Given the description of an element on the screen output the (x, y) to click on. 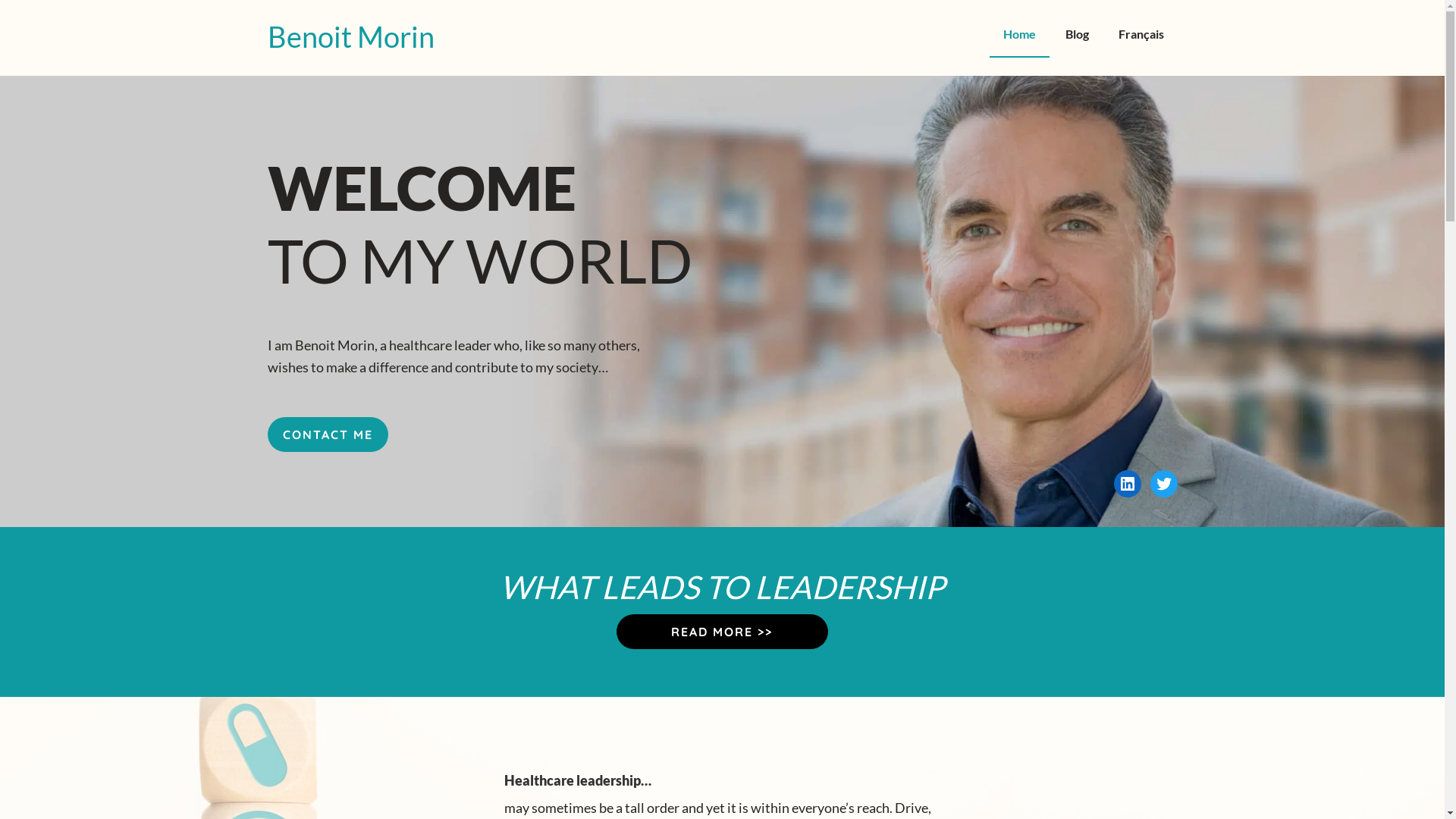
Benoit Morin Element type: text (349, 36)
CONTACT ME Element type: text (326, 434)
READ MORE >> Element type: text (722, 631)
Skip to primary navigation Element type: text (30, 0)
Blog Element type: text (1076, 34)
Home Element type: text (1018, 34)
